Given the description of an element on the screen output the (x, y) to click on. 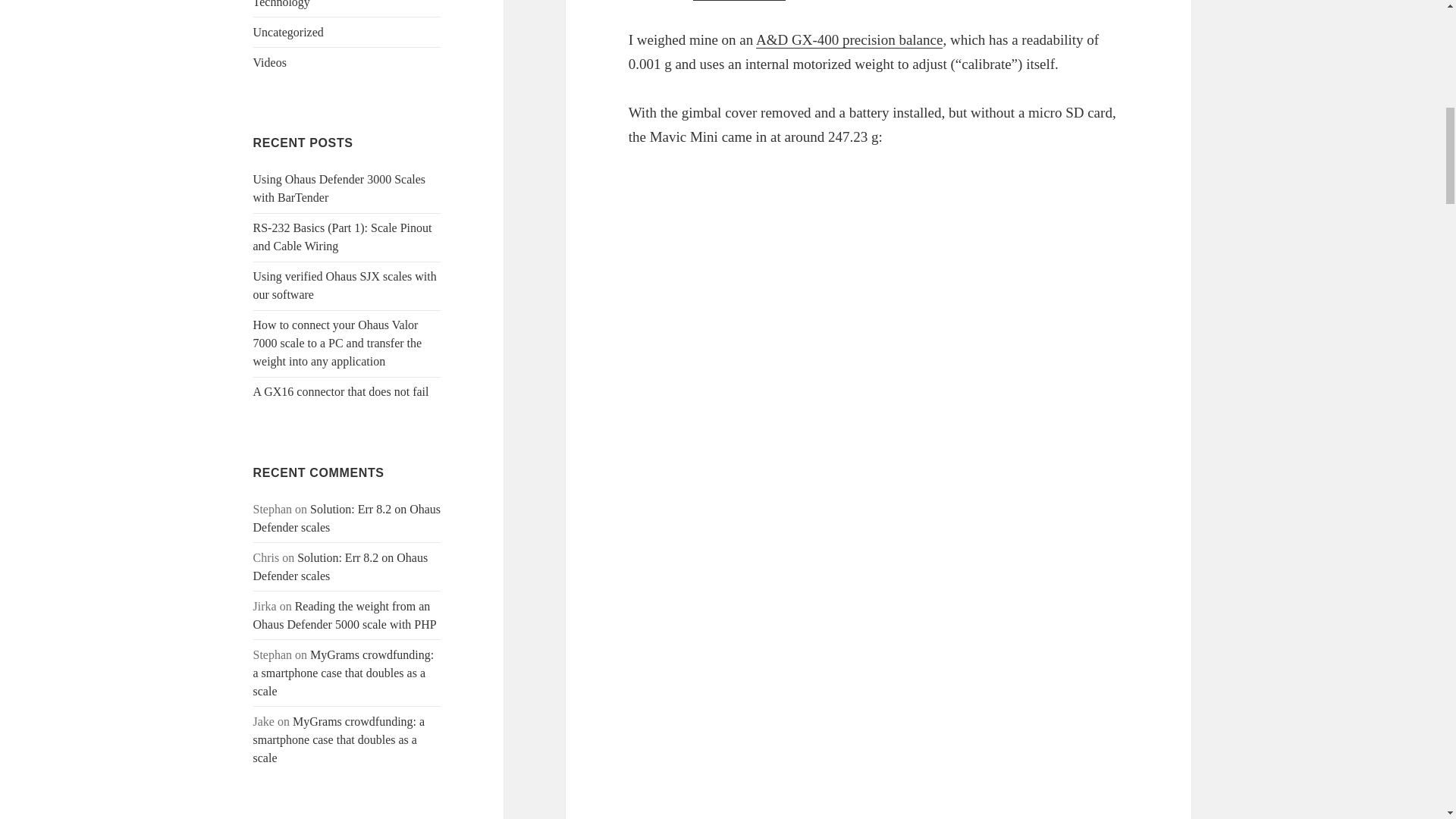
Solution: Err 8.2 on Ohaus Defender scales (347, 517)
Using Ohaus Defender 3000 Scales with BarTender (339, 187)
A GX16 connector that does not fail (341, 391)
Uncategorized (288, 31)
Technology (281, 4)
Solution: Err 8.2 on Ohaus Defender scales (340, 566)
Videos (269, 62)
Using verified Ohaus SJX scales with our software (344, 285)
